Given the description of an element on the screen output the (x, y) to click on. 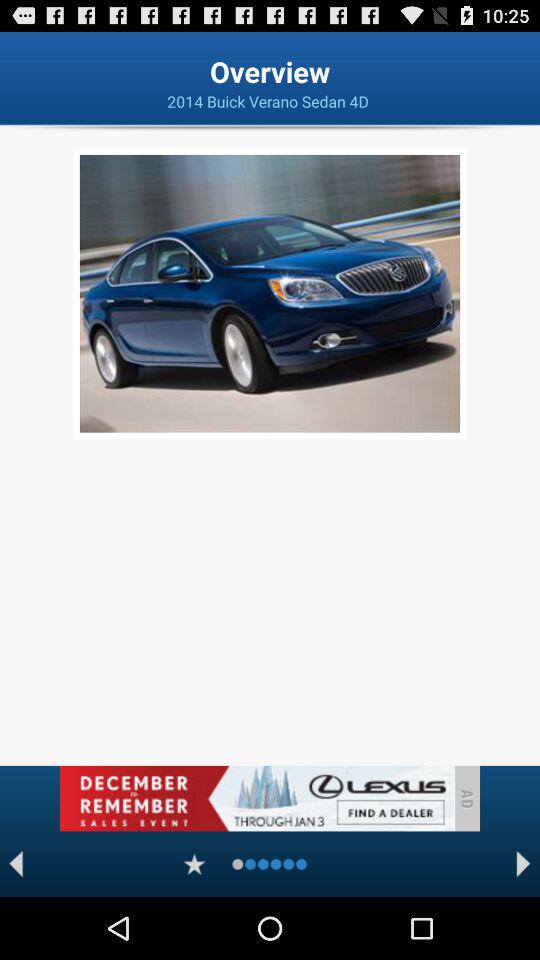
sends to the next image (523, 864)
